Given the description of an element on the screen output the (x, y) to click on. 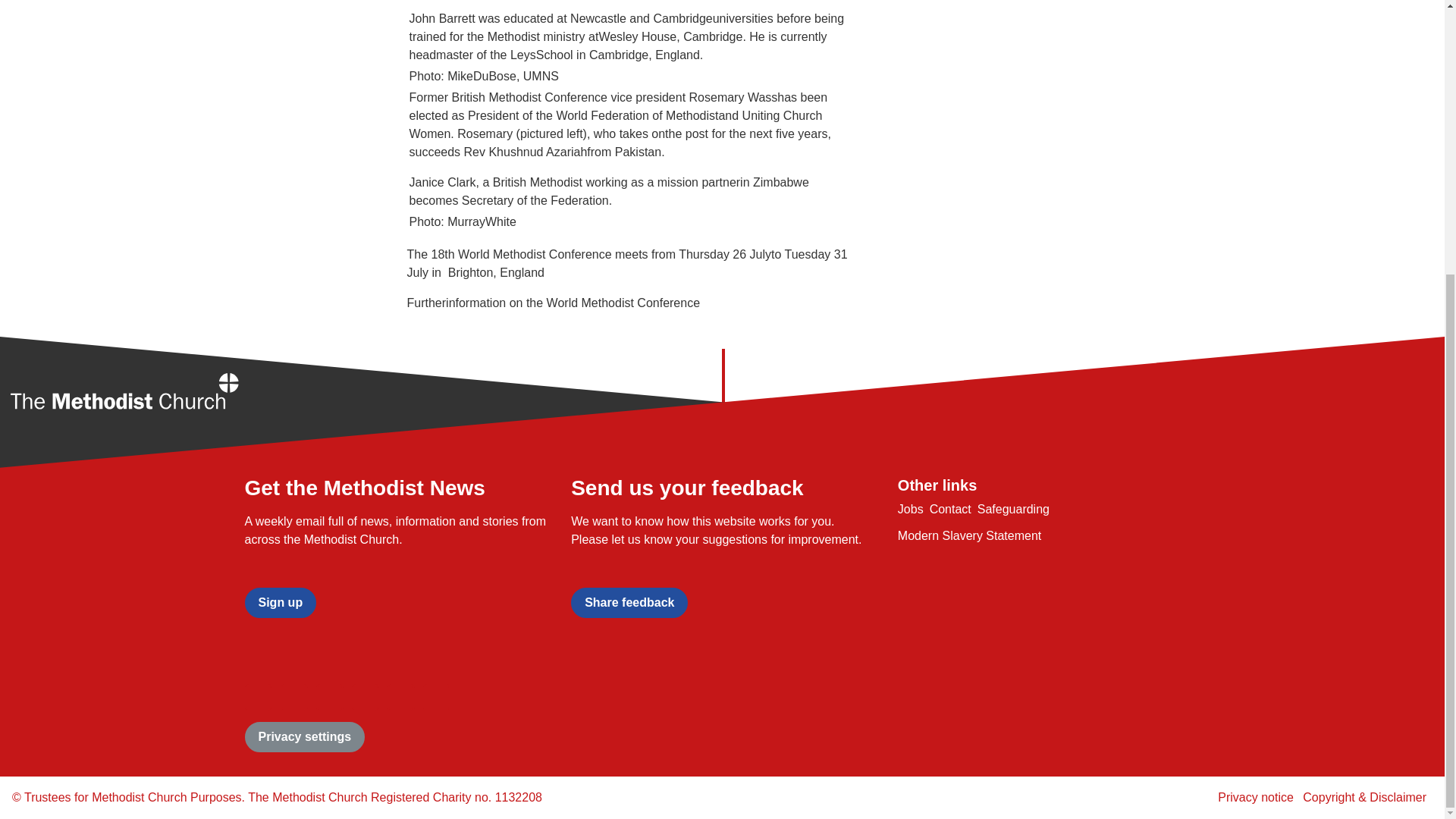
Sign up (279, 603)
Contact (950, 508)
Safeguarding (1012, 508)
Share feedback (628, 603)
Jobs (910, 508)
Modern Slavery Statement (969, 535)
Home (124, 393)
